Given the description of an element on the screen output the (x, y) to click on. 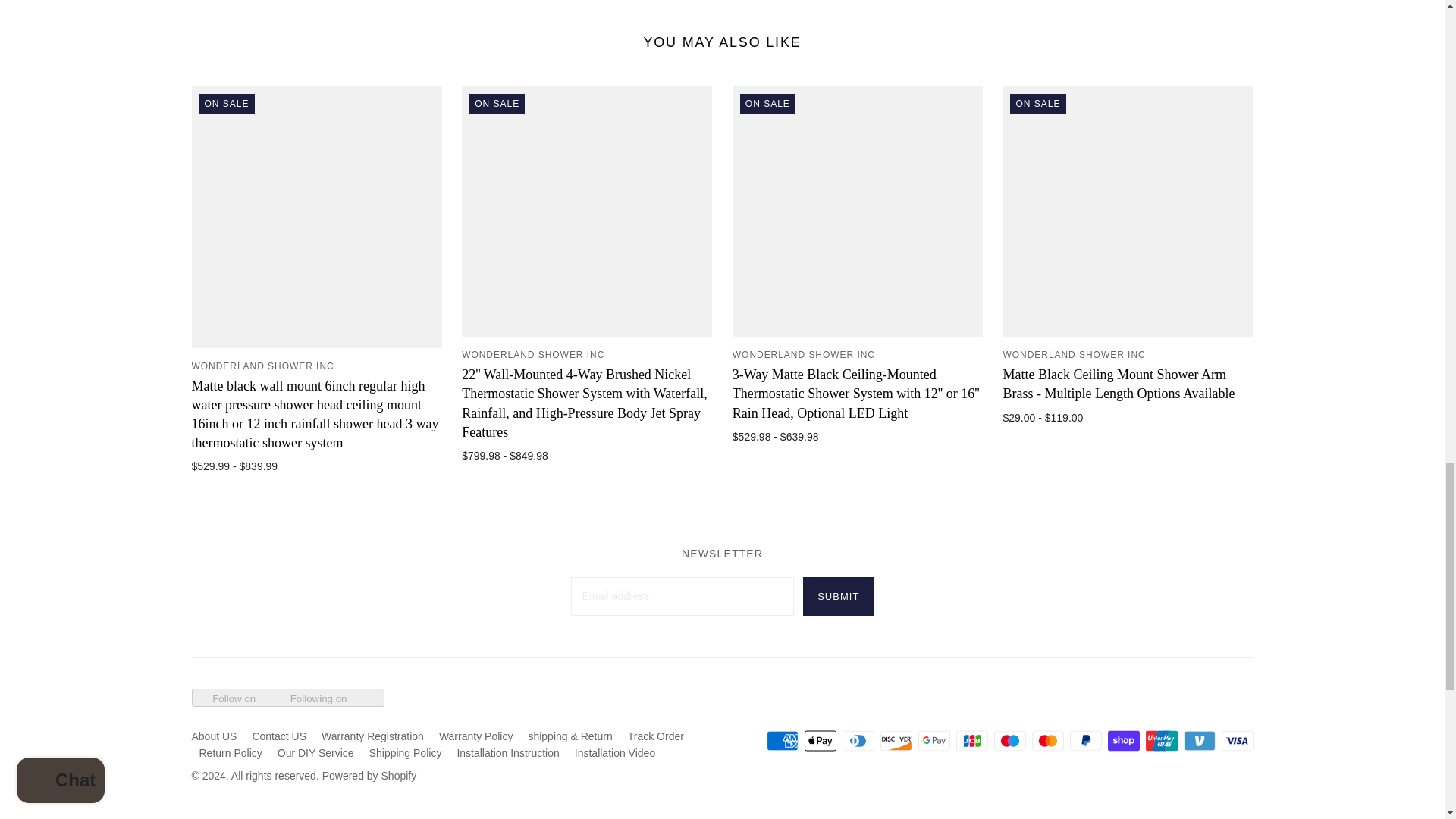
Discover (895, 740)
Google Pay (933, 740)
wonderland shower inc (803, 354)
JCB (971, 740)
American Express (781, 740)
Mastercard (1046, 740)
wonderland shower inc (261, 366)
Venmo (1198, 740)
Apple Pay (819, 740)
wonderland shower inc (1073, 354)
